Given the description of an element on the screen output the (x, y) to click on. 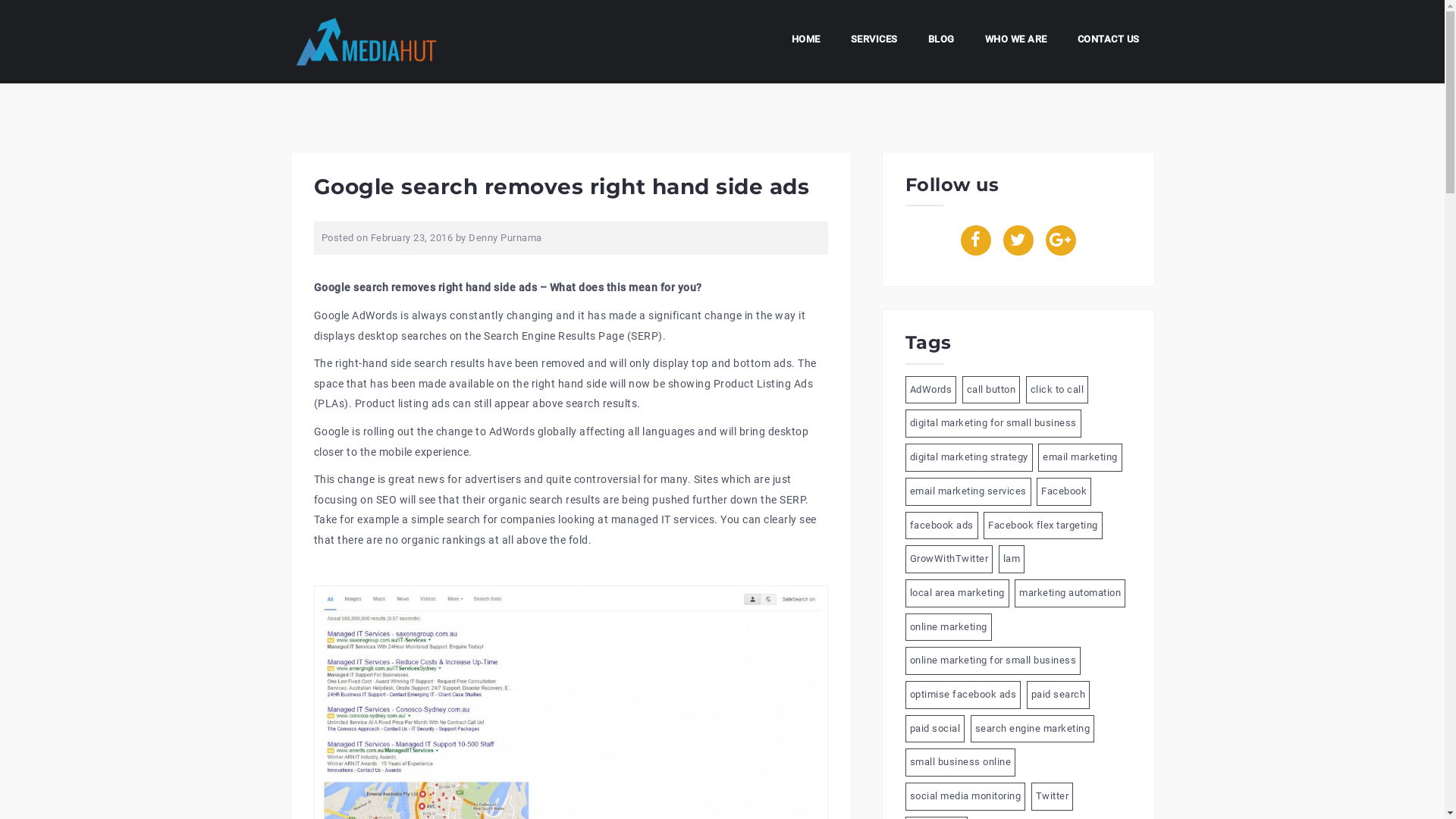
search engine marketing Element type: text (1032, 729)
BLOG Element type: text (941, 41)
February 23, 2016 Element type: text (411, 237)
Twitter Element type: text (1017, 240)
social media monitoring Element type: text (965, 796)
digital marketing for small business Element type: text (993, 423)
GrowWithTwitter Element type: text (949, 559)
digital marketing strategy Element type: text (968, 457)
paid search Element type: text (1058, 694)
Denny Purnama Element type: text (505, 237)
G+ Element type: text (1059, 240)
Facebook Element type: text (975, 240)
marketing automation Element type: text (1069, 593)
CONTACT US Element type: text (1107, 41)
Facebook flex targeting Element type: text (1042, 525)
AdWords Element type: text (931, 390)
HOME Element type: text (805, 41)
online marketing Element type: text (948, 627)
Facebook Element type: text (1063, 491)
optimise facebook ads Element type: text (963, 694)
local area marketing Element type: text (957, 593)
online marketing for small business Element type: text (993, 660)
Twitter Element type: text (1052, 796)
Skip to content Element type: text (0, 0)
call button Element type: text (990, 390)
small business online Element type: text (960, 762)
facebook ads Element type: text (941, 525)
email marketing Element type: text (1080, 457)
WHO WE ARE Element type: text (1015, 41)
SERVICES Element type: text (873, 41)
paid social Element type: text (935, 729)
lam Element type: text (1010, 559)
click to call Element type: text (1056, 390)
email marketing services Element type: text (968, 491)
